Given the description of an element on the screen output the (x, y) to click on. 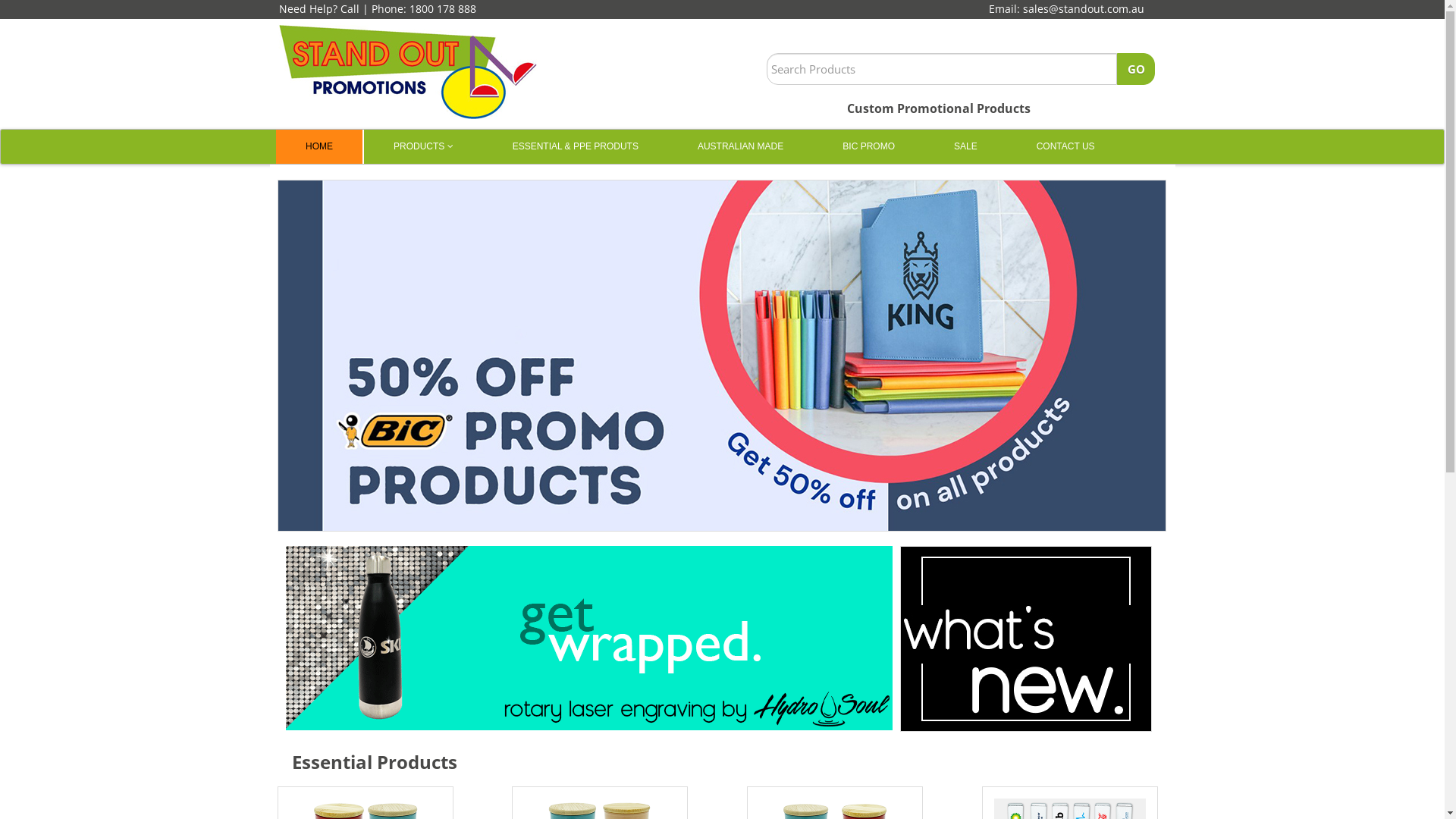
CONTACT US Element type: text (1065, 146)
SALE Element type: text (965, 146)
HOME Element type: text (319, 146)
ESSENTIAL & PPE PRODUTS Element type: text (575, 146)
PRODUCTS Element type: text (423, 146)
BIC PROMO Element type: text (868, 146)
AUSTRALIAN MADE Element type: text (740, 146)
GO Element type: text (1135, 68)
